Given the description of an element on the screen output the (x, y) to click on. 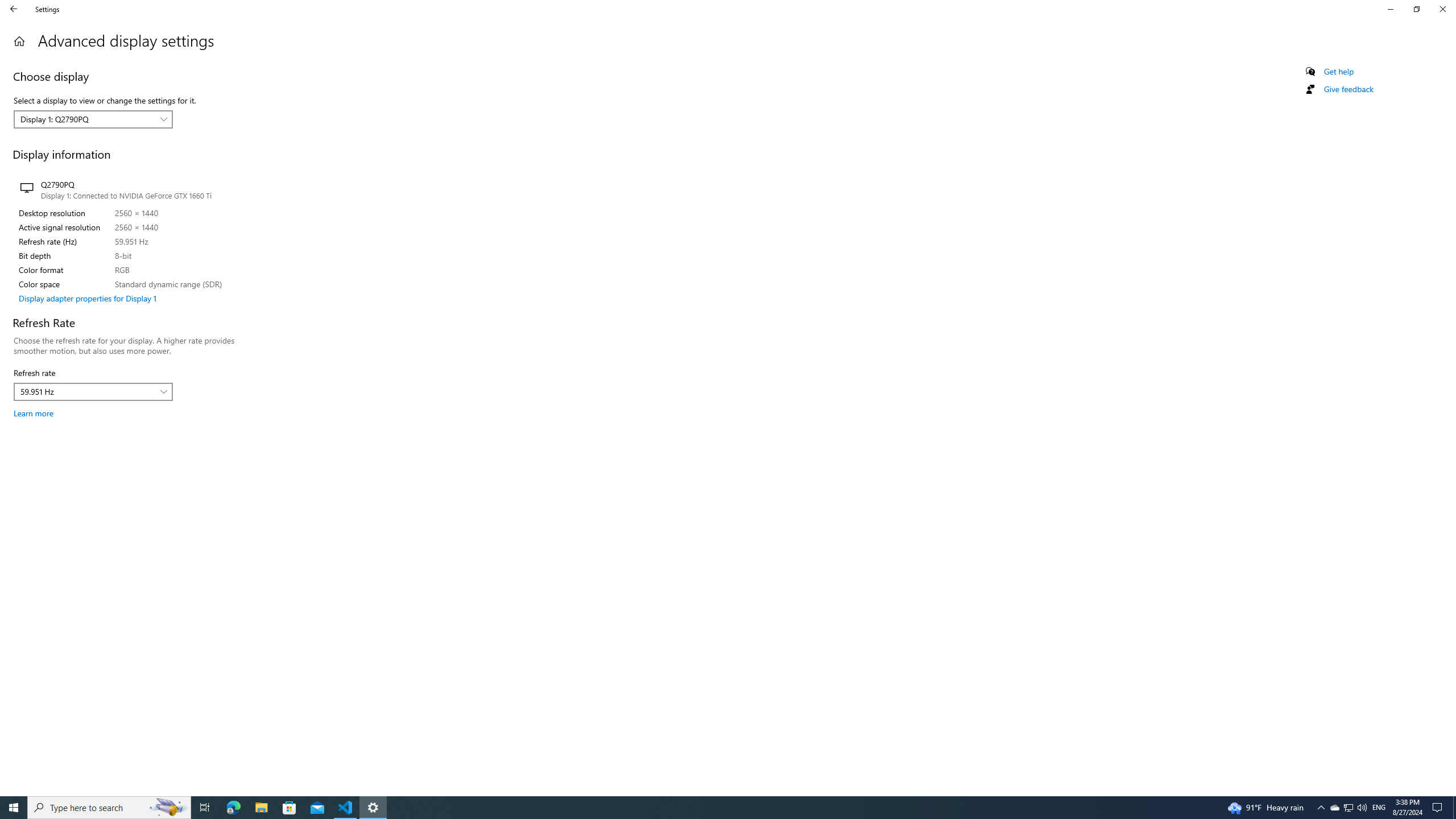
Select a display to view or change the settings for it. (93, 119)
Back (13, 9)
Display 1: Q2790PQ (87, 118)
Settings - 1 running window (373, 807)
